Given the description of an element on the screen output the (x, y) to click on. 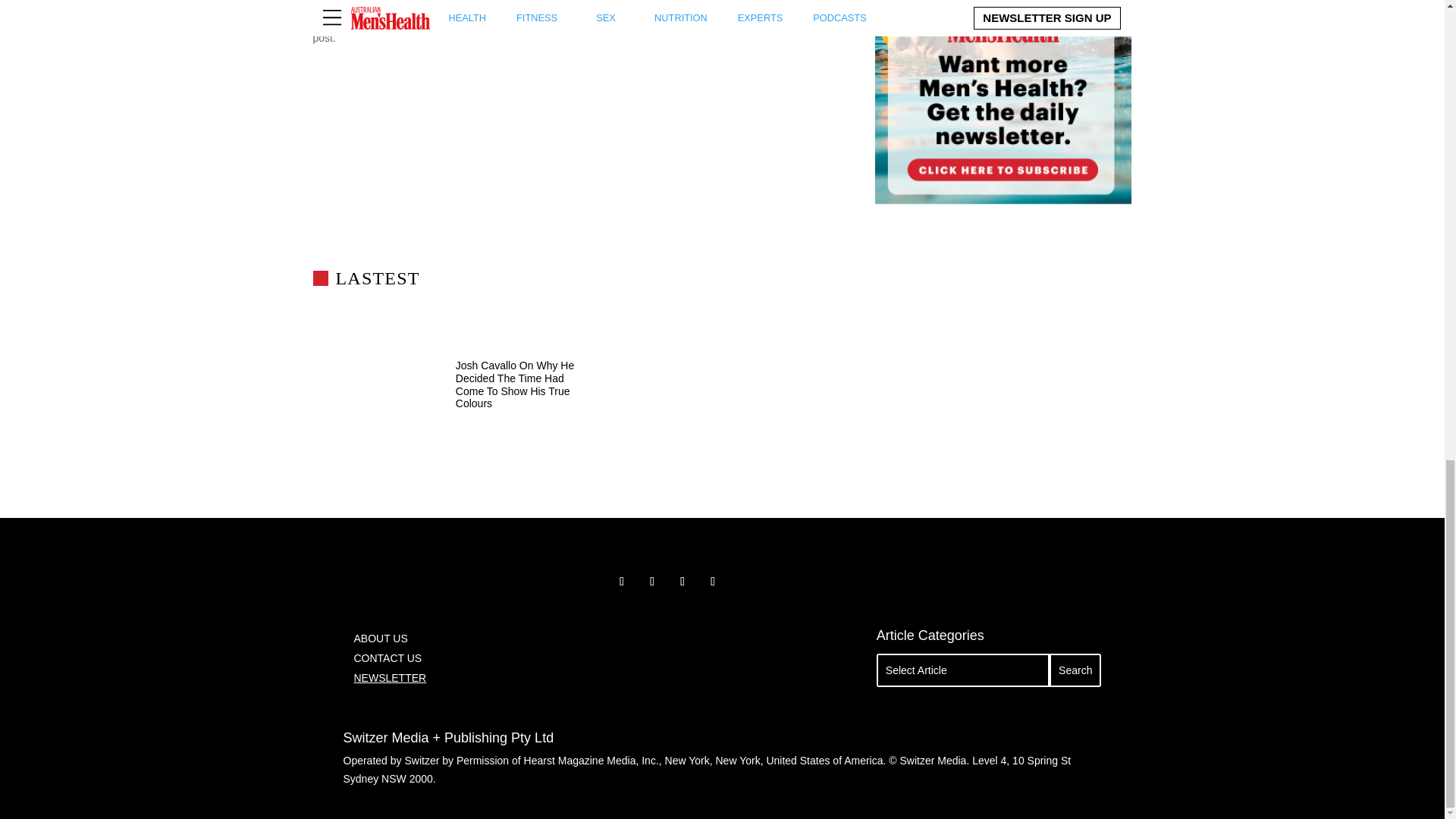
Search (1074, 670)
Follow on Instagram (681, 581)
Search (1074, 670)
Follow on Facebook (621, 581)
Follow on X (651, 581)
Follow on LinkedIn (712, 581)
